Given the description of an element on the screen output the (x, y) to click on. 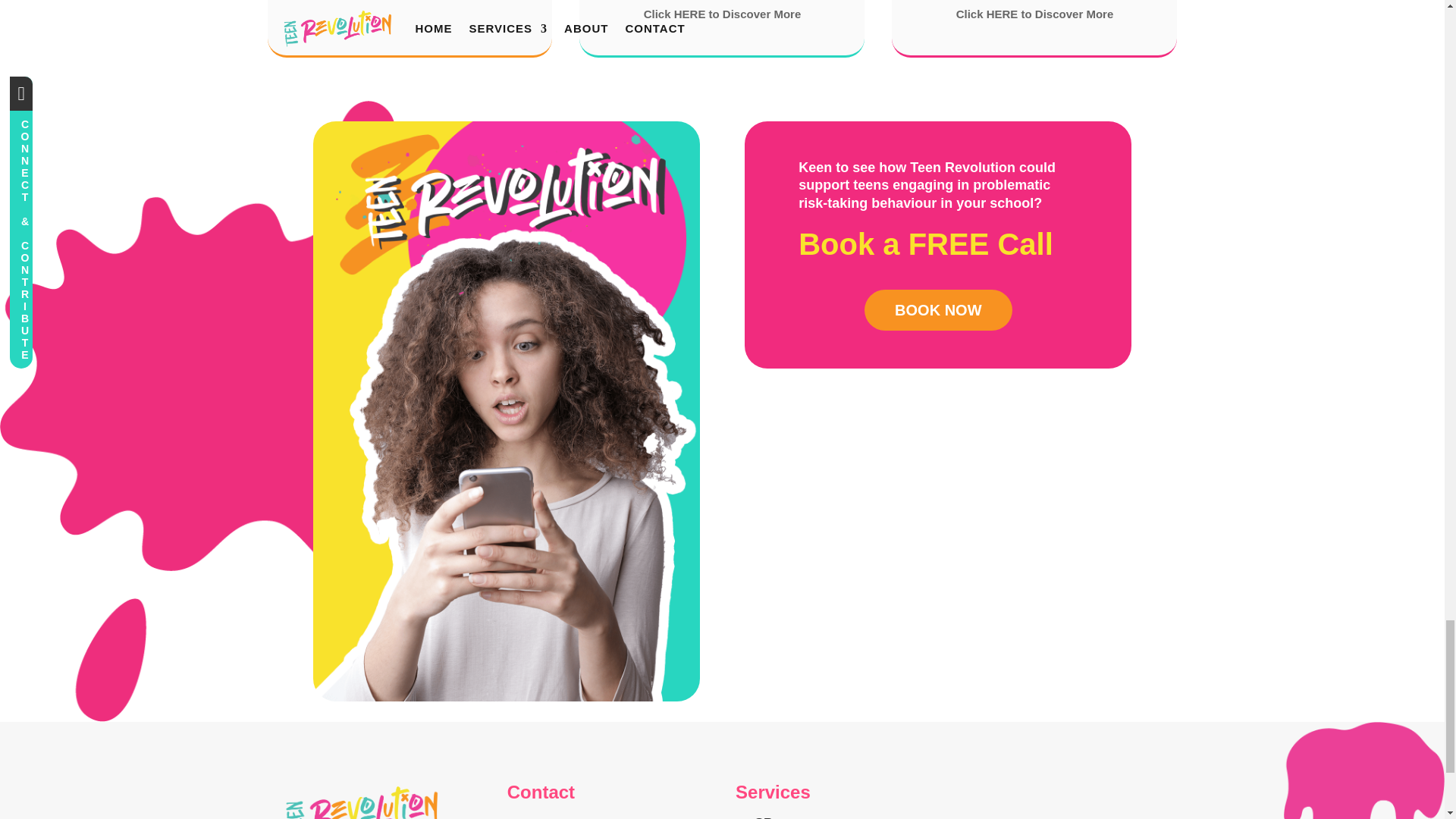
SP (763, 817)
BOOK NOW (937, 309)
Main Logo - Full Colour (360, 800)
